Given the description of an element on the screen output the (x, y) to click on. 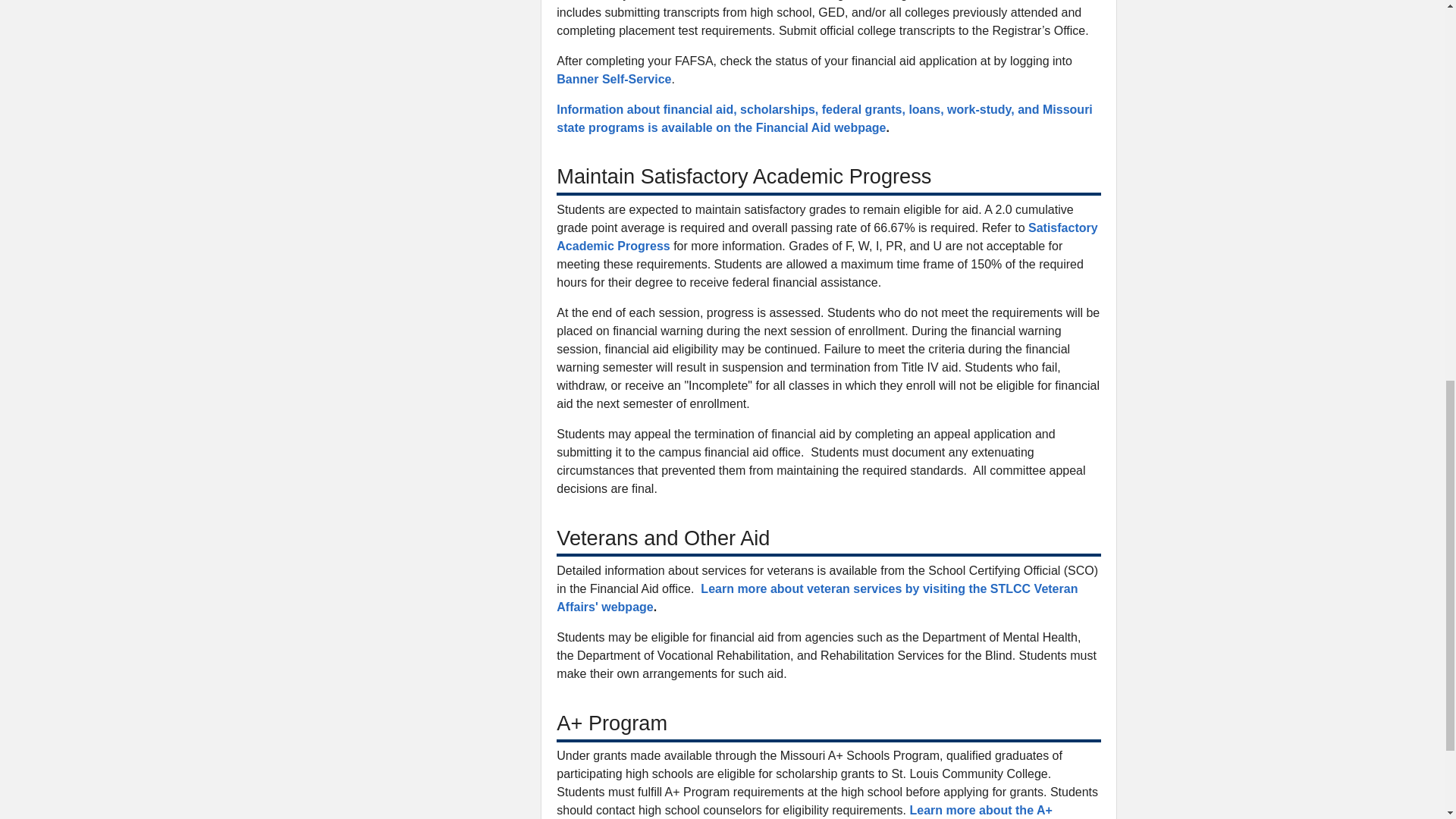
Banner Self-Service (613, 78)
Satisfactory Academic Progress (826, 236)
